Given the description of an element on the screen output the (x, y) to click on. 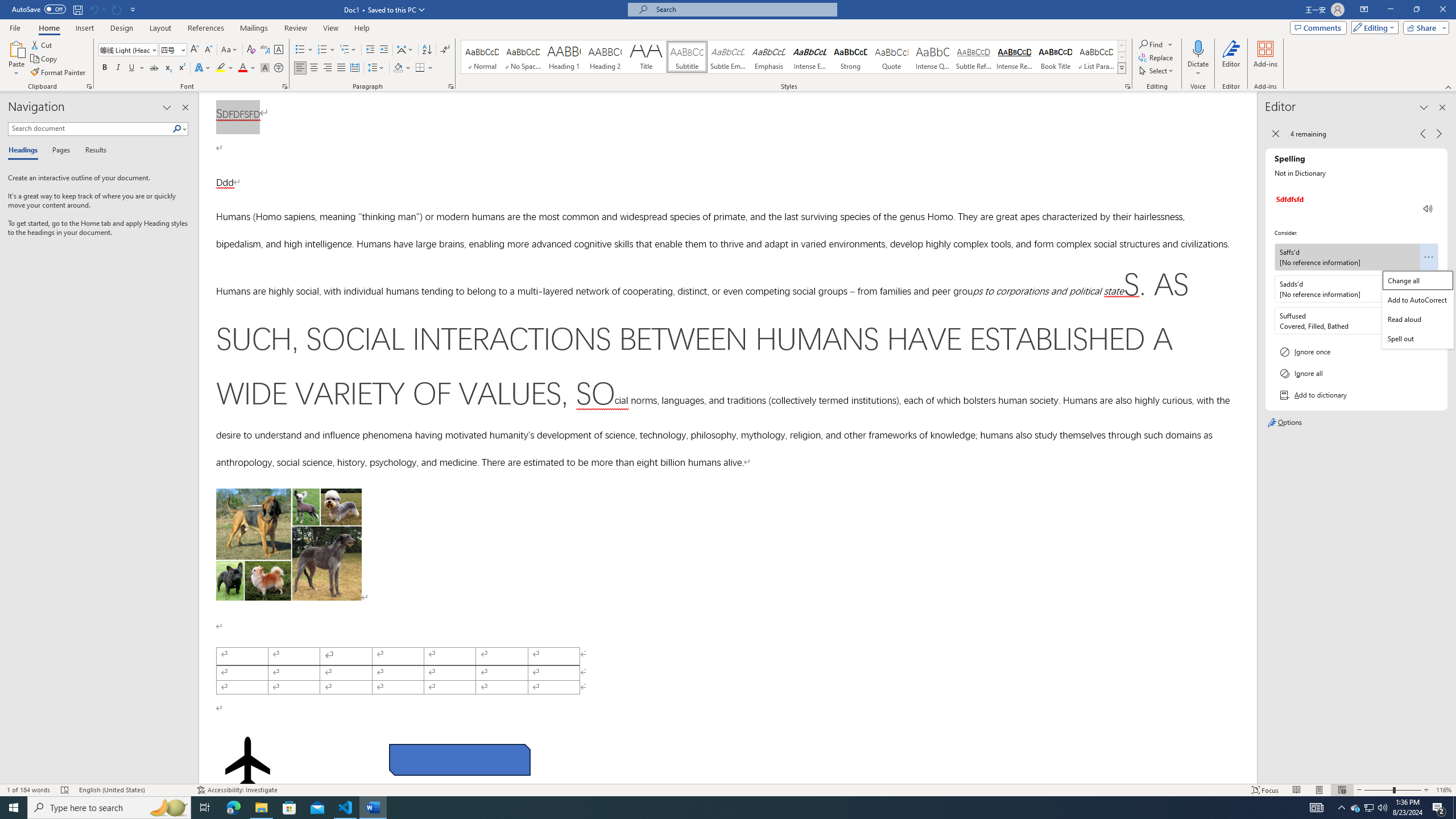
AutomationID: DrillInPane_ReadContext (1428, 208)
Emphasis (768, 56)
Spell out (1418, 338)
Options (1356, 422)
More options for Saffs'd (1428, 257)
